Given the description of an element on the screen output the (x, y) to click on. 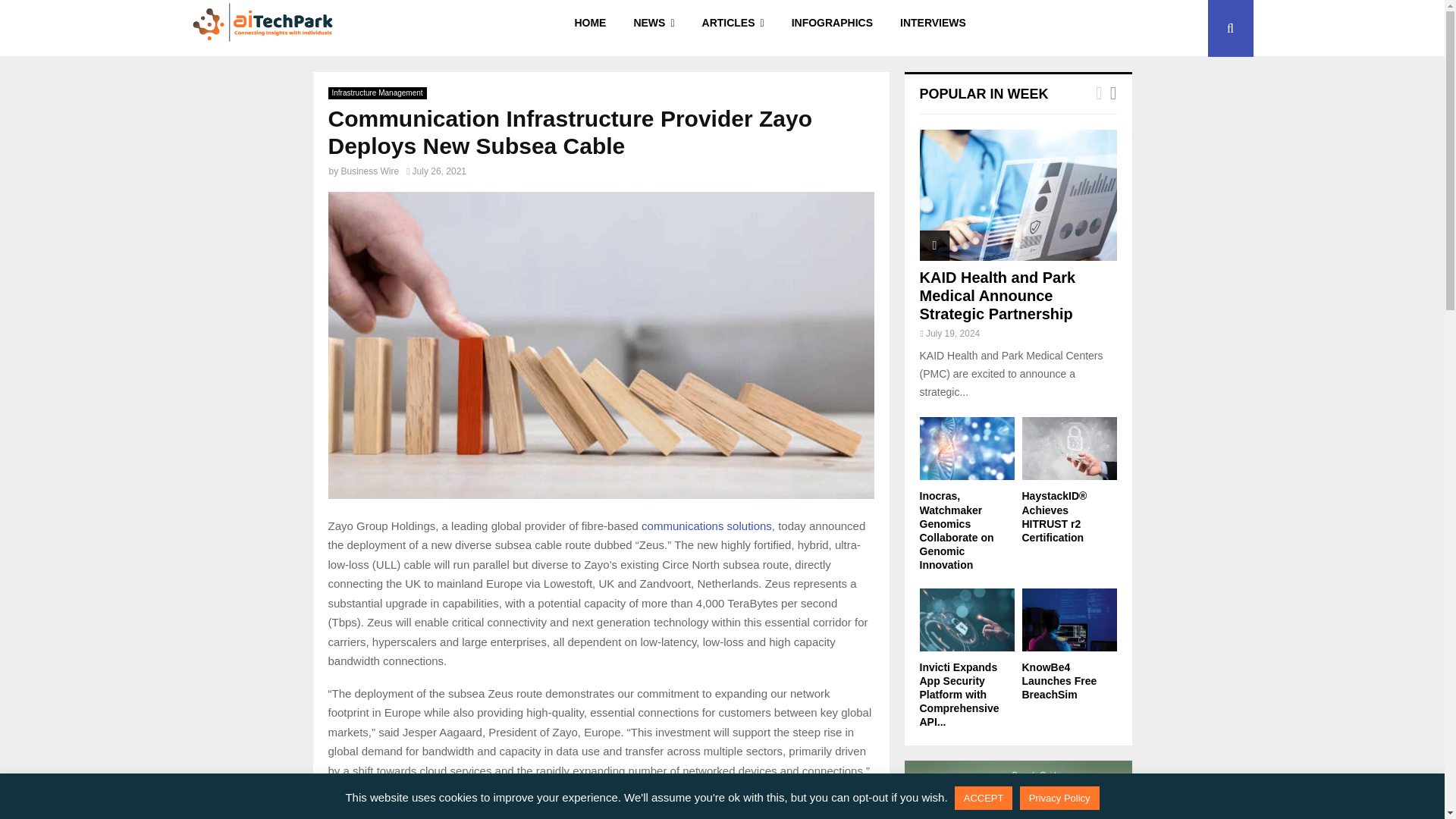
NEWS (653, 28)
KAID Health and Park Medical Announce Strategic Partnership (1017, 195)
KnowBe4 Launches Free BreachSim (1069, 619)
HOME (590, 28)
